Given the description of an element on the screen output the (x, y) to click on. 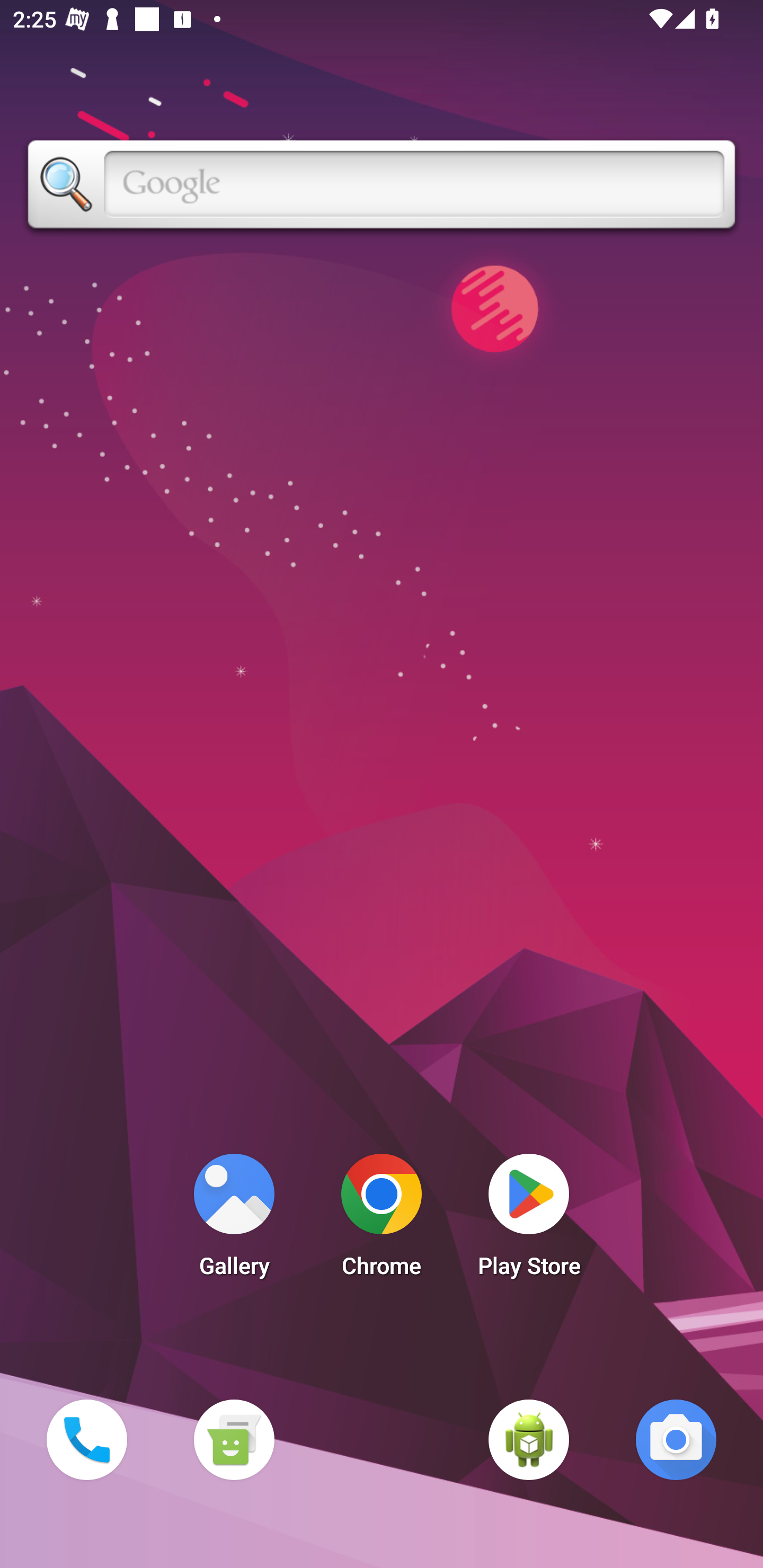
Gallery (233, 1220)
Chrome (381, 1220)
Play Store (528, 1220)
Phone (86, 1439)
Messaging (233, 1439)
WebView Browser Tester (528, 1439)
Camera (676, 1439)
